Given the description of an element on the screen output the (x, y) to click on. 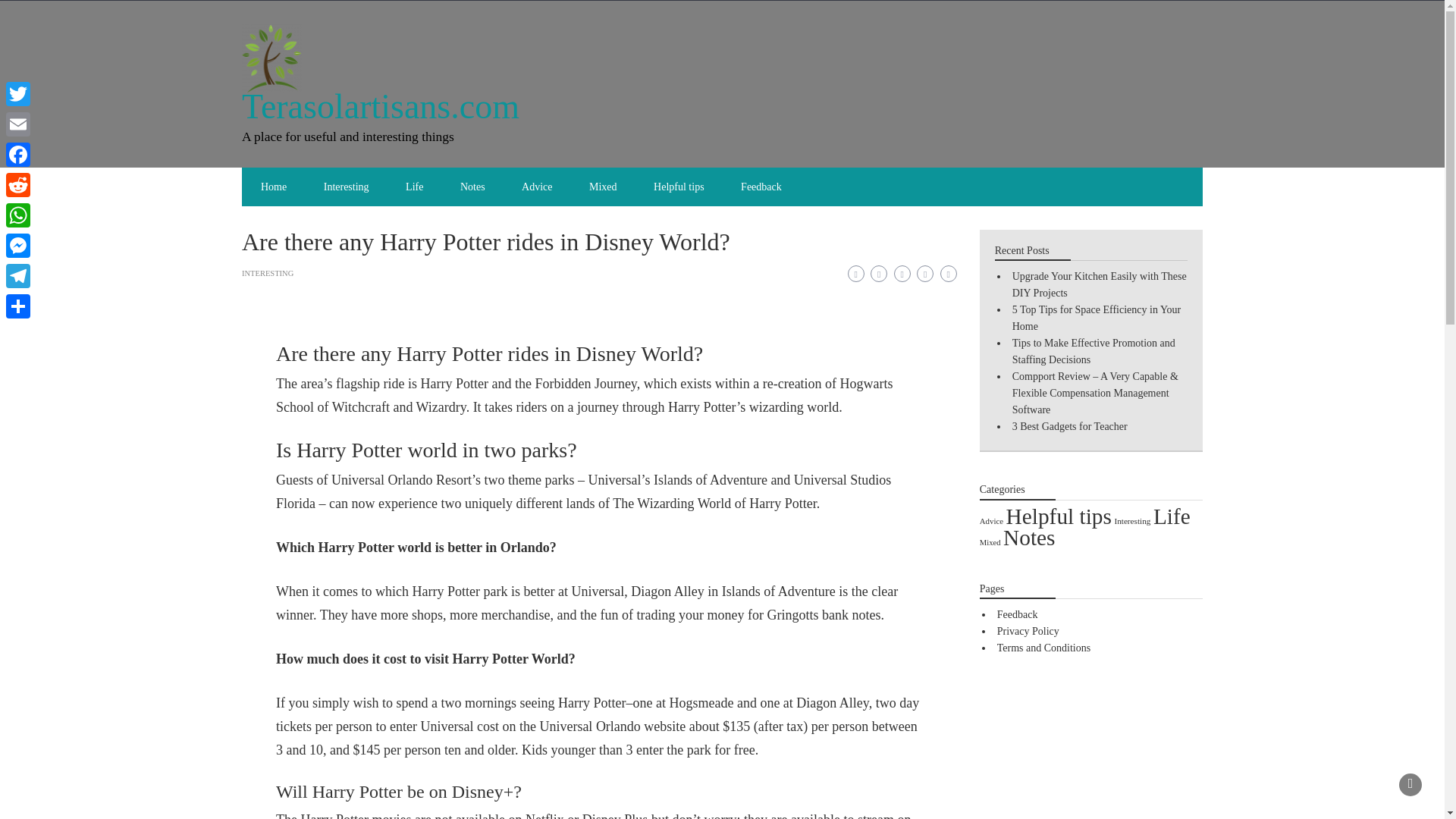
Messenger (17, 245)
Interesting (1131, 520)
5 Top Tips for Space Efficiency in Your Home (1095, 317)
Feedback (760, 186)
Mixed (602, 186)
Tips to Make Effective Promotion and Staffing Decisions (1092, 351)
Helpful tips (1059, 516)
WhatsApp (17, 214)
Facebook (17, 154)
Life (1172, 516)
Home (273, 186)
Notes (472, 186)
3 Best Gadgets for Teacher (1068, 426)
Advice (991, 520)
Interesting (346, 186)
